Given the description of an element on the screen output the (x, y) to click on. 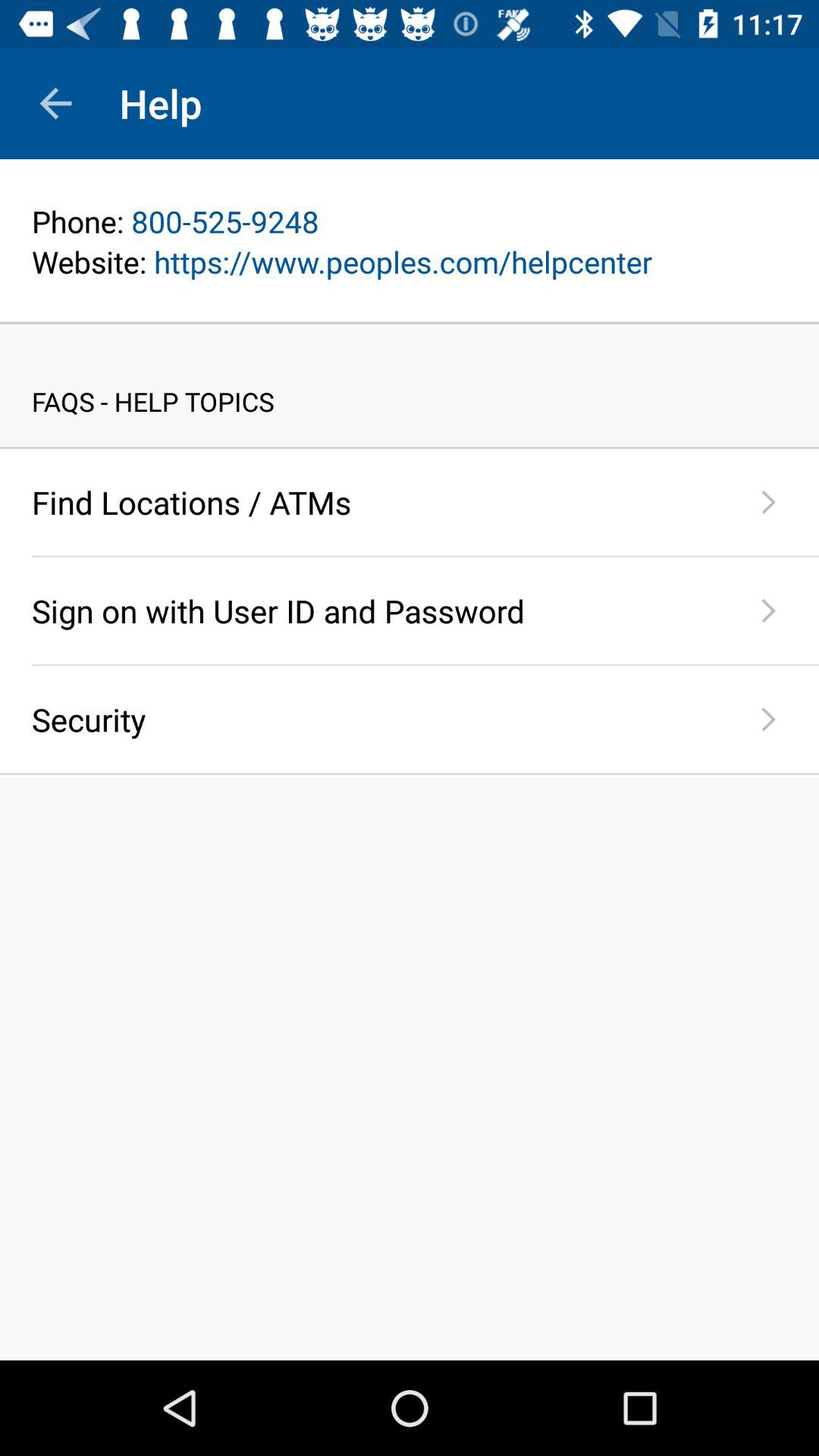
turn on the item above faqs - help topics app (409, 322)
